Given the description of an element on the screen output the (x, y) to click on. 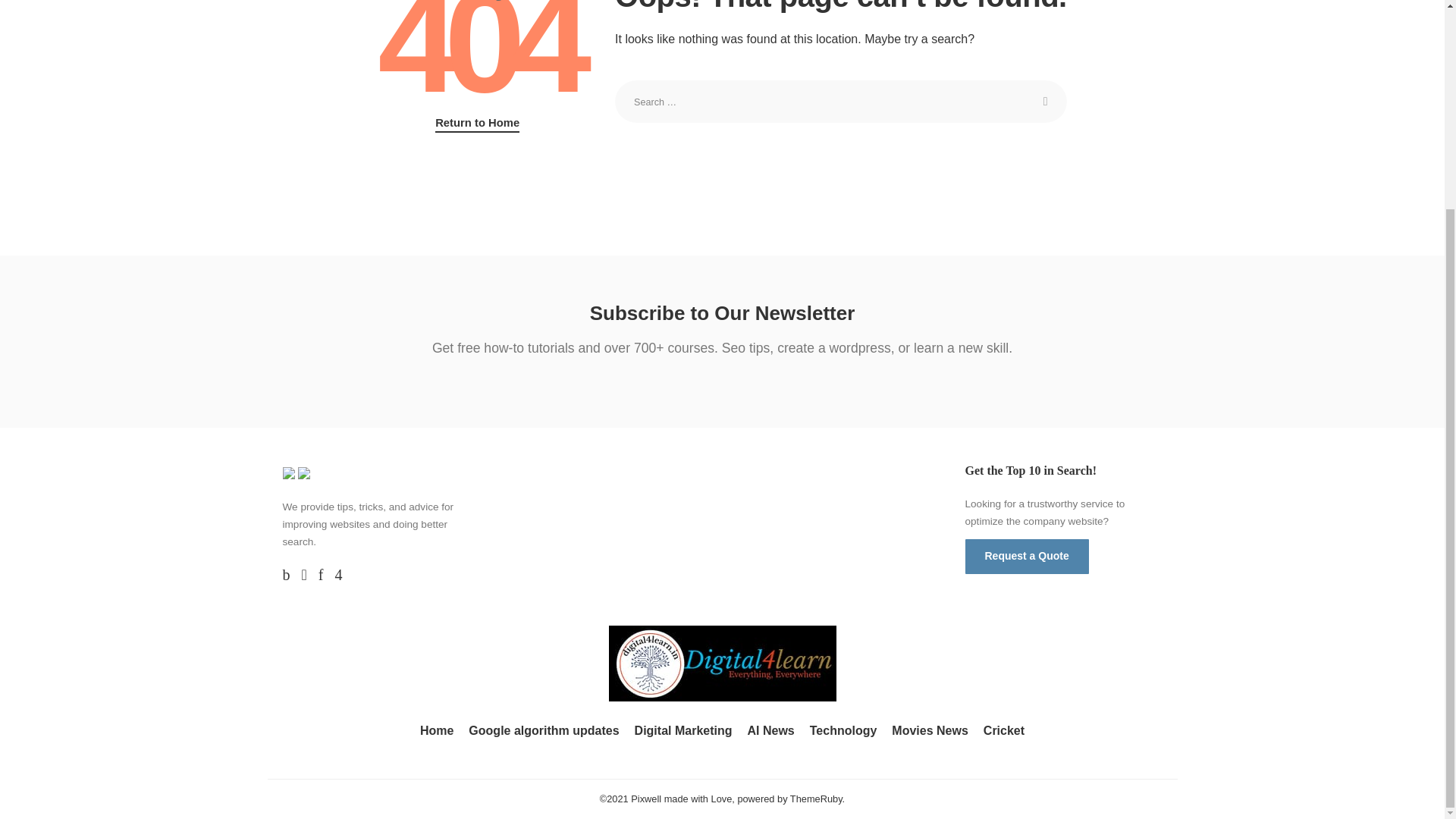
Search (1046, 101)
Return to Home (477, 123)
Search (1046, 101)
